Given the description of an element on the screen output the (x, y) to click on. 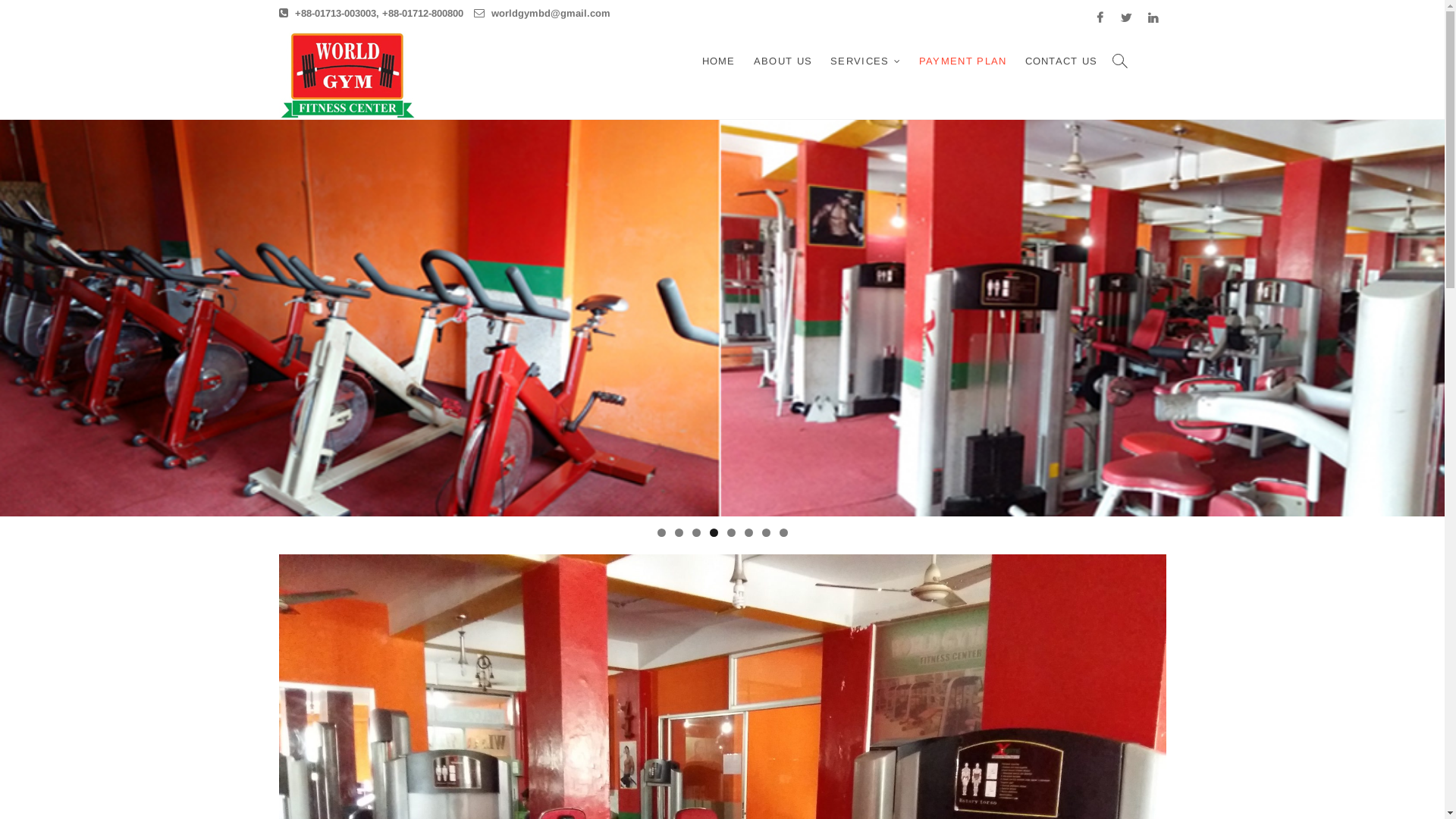
facebook Element type: text (1098, 17)
+88-01713-003003, +88-01712-800800 Element type: text (371, 12)
linkedin Element type: text (1152, 17)
6 Element type: text (748, 532)
5 Element type: text (730, 532)
twitter Element type: text (1126, 17)
3 Element type: text (695, 532)
05_universal Element type: hover (722, 317)
8 Element type: text (783, 532)
worldgymbd@gmail.com Element type: text (541, 12)
7 Element type: text (765, 532)
SERVICES Element type: text (865, 61)
ABOUT US Element type: text (782, 61)
4 Element type: text (713, 532)
PAYMENT PLAN Element type: text (962, 61)
2 Element type: text (678, 532)
CONTACT US Element type: text (1061, 61)
HOME Element type: text (718, 61)
1 Element type: text (660, 532)
